Given the description of an element on the screen output the (x, y) to click on. 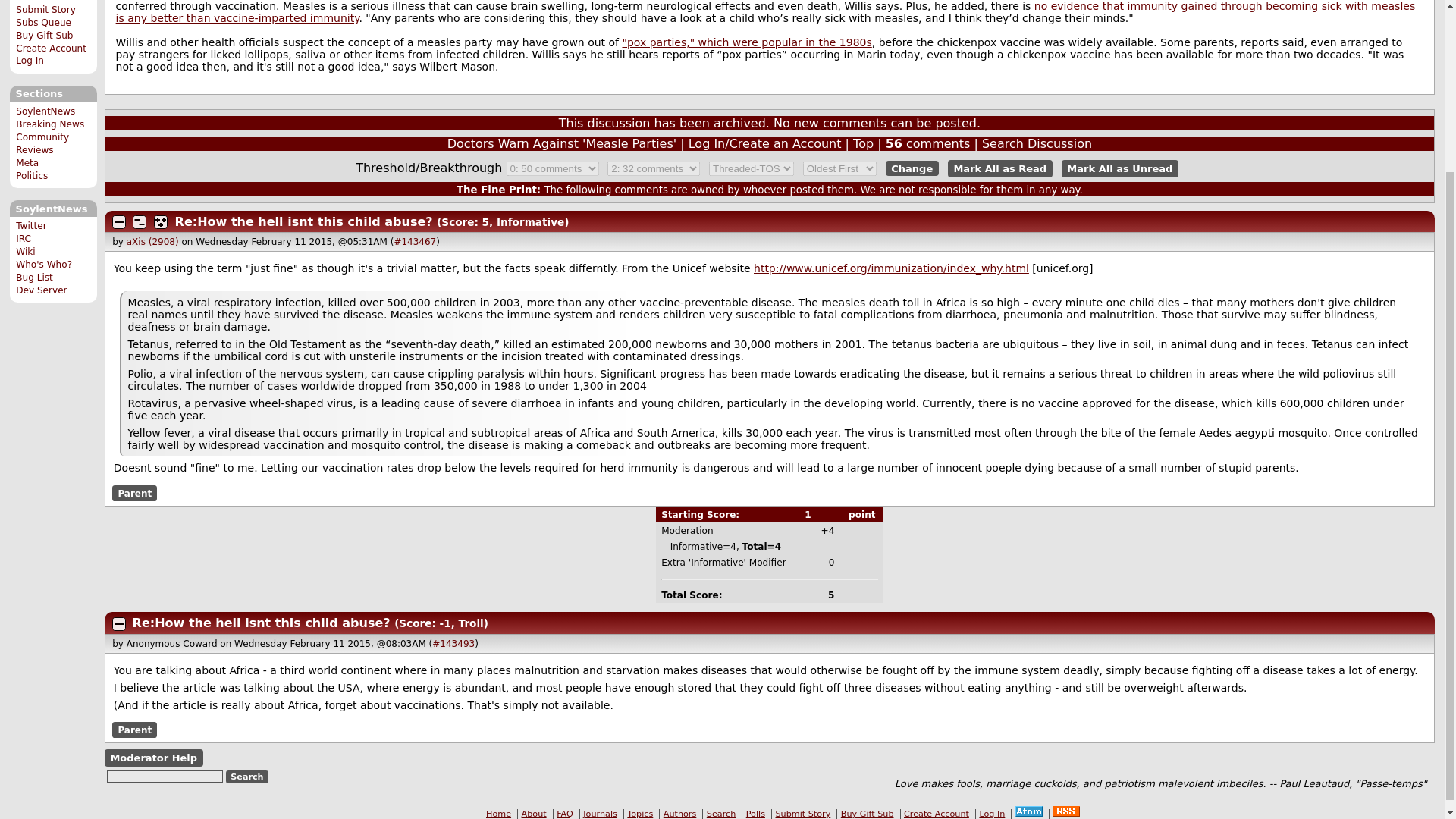
Breaking News (50, 123)
Wiki (25, 251)
Dev Server (41, 290)
Show all comments in tree (160, 222)
Politics (32, 175)
Twitter (31, 225)
Community Reviews (42, 143)
Create Account (50, 48)
Bug List (34, 276)
"pox parties," which were popular in the 1980s (745, 42)
IRC (23, 238)
Search (247, 776)
Who's Who? (43, 264)
Log In (29, 60)
Subs Queue (43, 22)
